Given the description of an element on the screen output the (x, y) to click on. 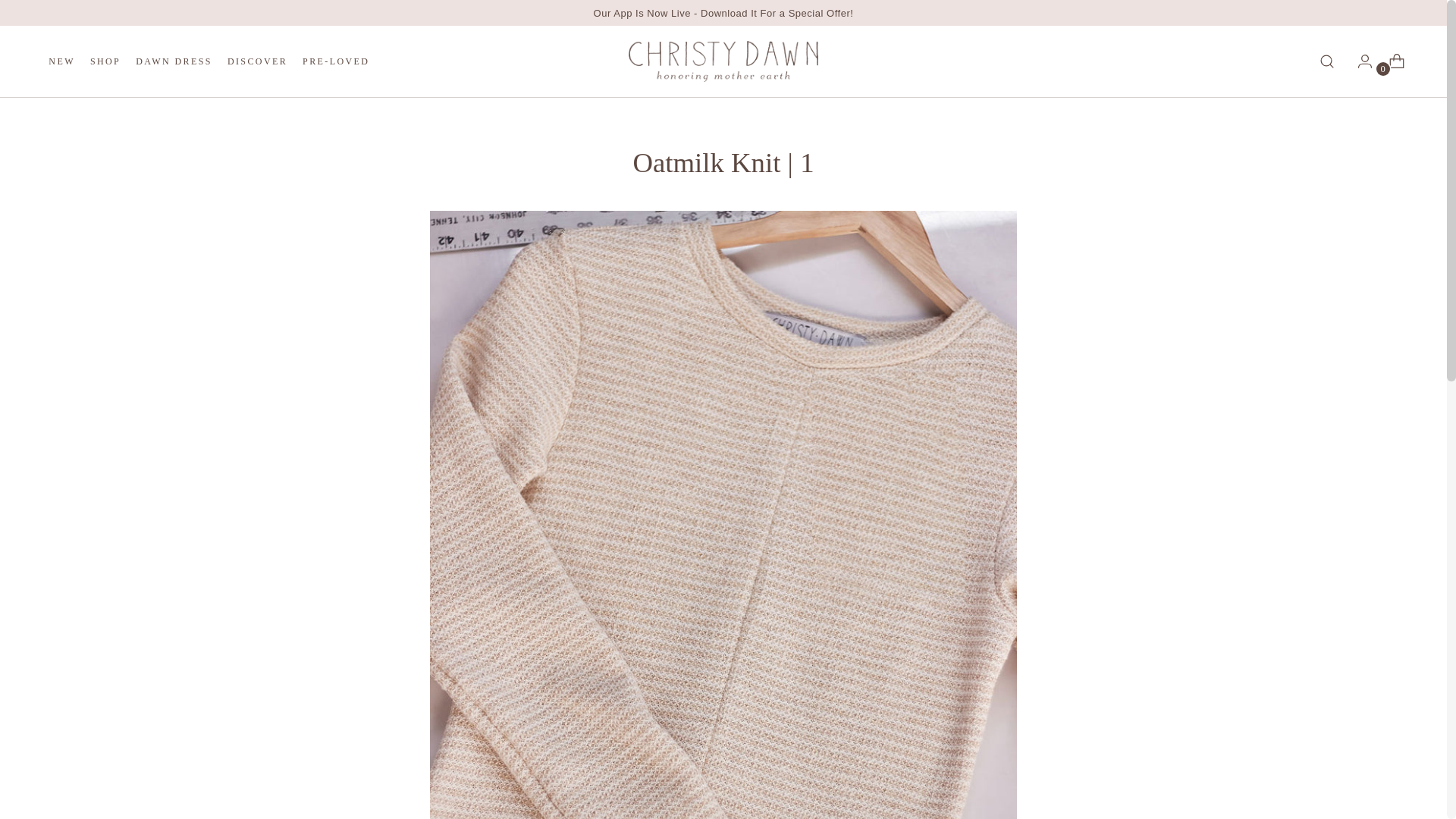
SHOP (208, 61)
Our App Is Now Live - Download It For a Special Offer! (105, 61)
DISCOVER (723, 12)
DAWN DRESS (256, 61)
PRE-LOVED (173, 61)
